Given the description of an element on the screen output the (x, y) to click on. 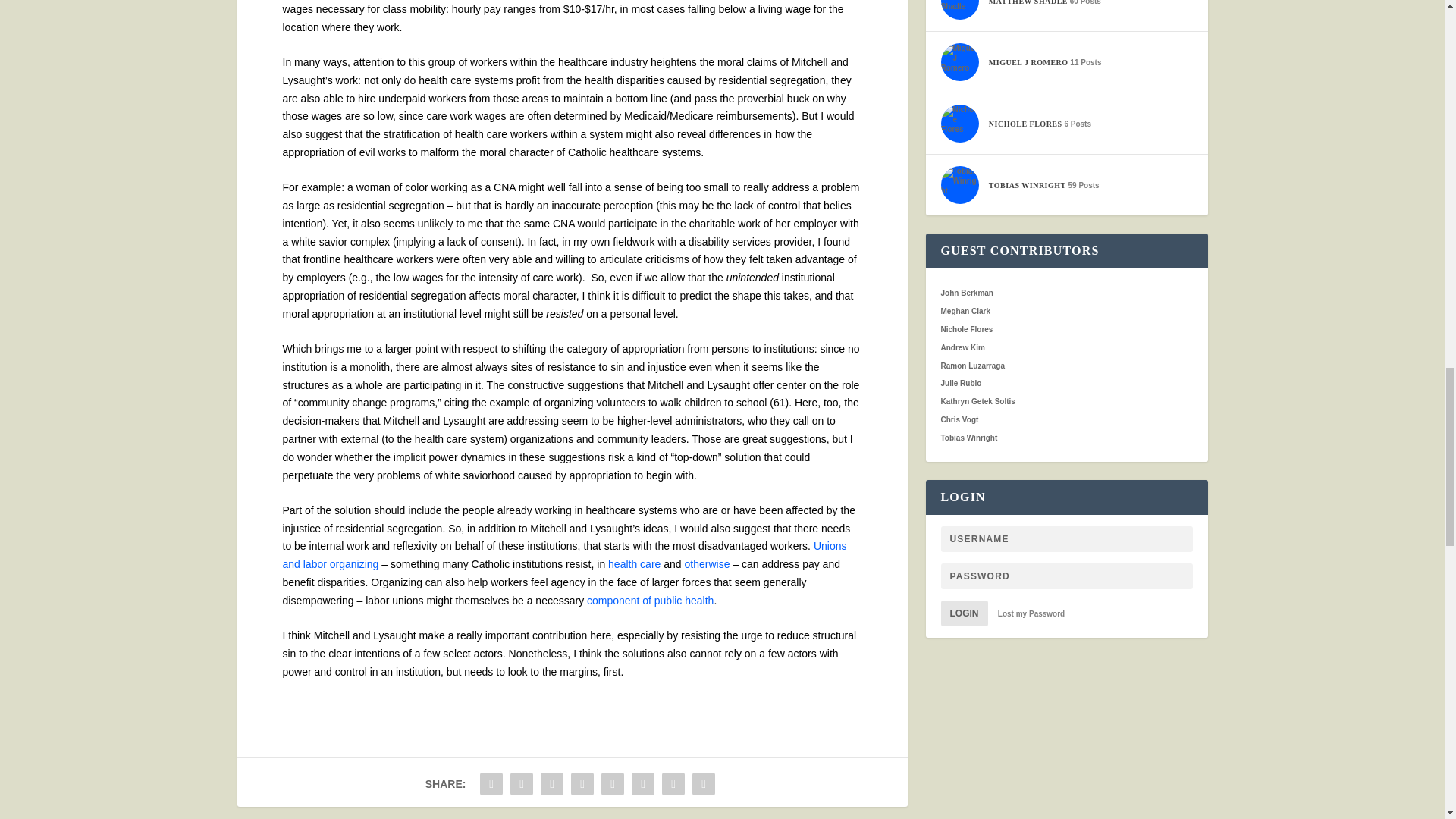
component of public health (649, 600)
otherwise (706, 563)
Unions and labor organizing (563, 554)
health care (634, 563)
